Given the description of an element on the screen output the (x, y) to click on. 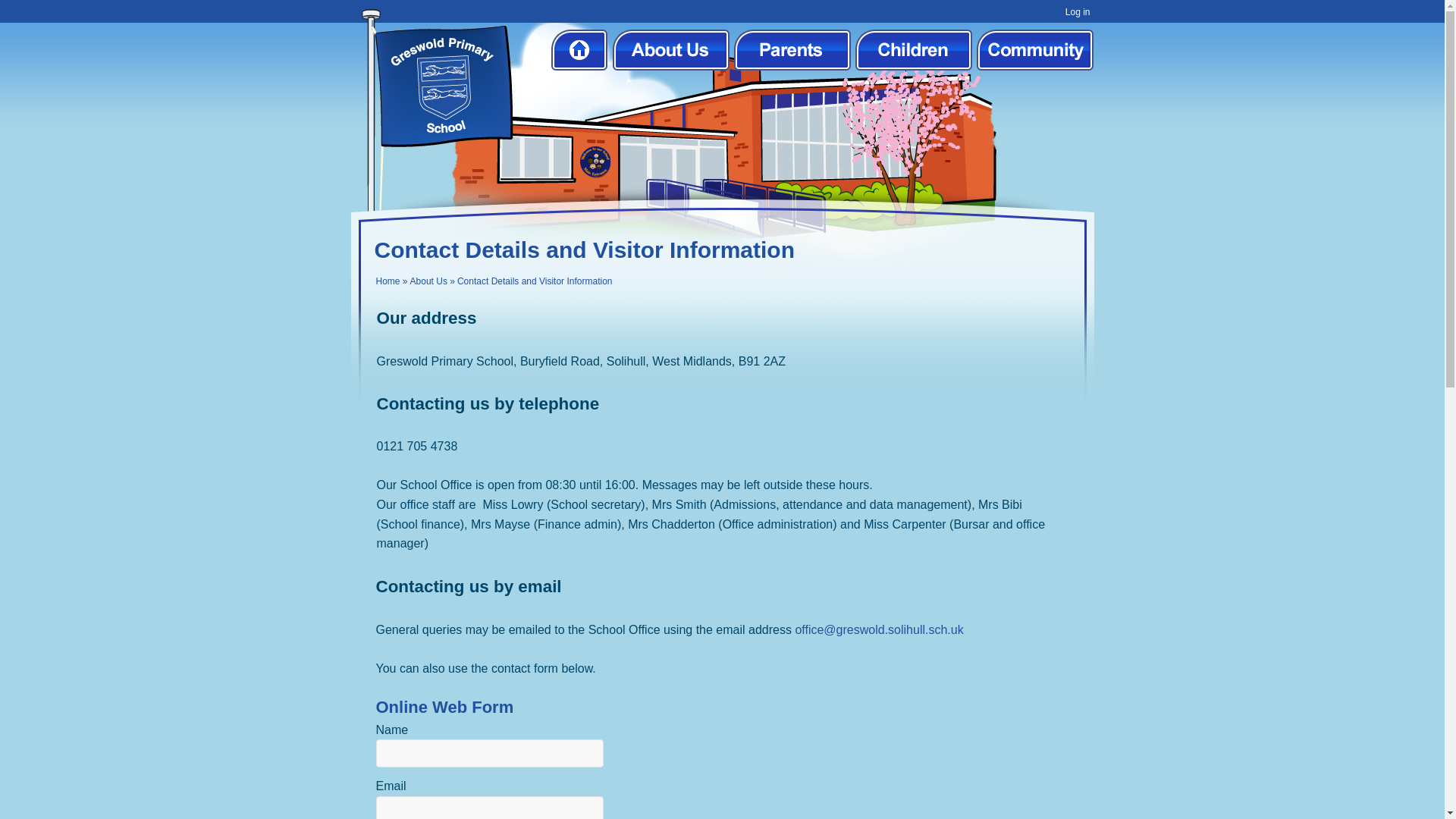
About Us (670, 49)
Home Page (442, 86)
Home (578, 49)
About Us (428, 281)
Home Page (442, 86)
Contact Details and Visitor Information (534, 281)
Log in (1077, 12)
Home (387, 281)
